Given the description of an element on the screen output the (x, y) to click on. 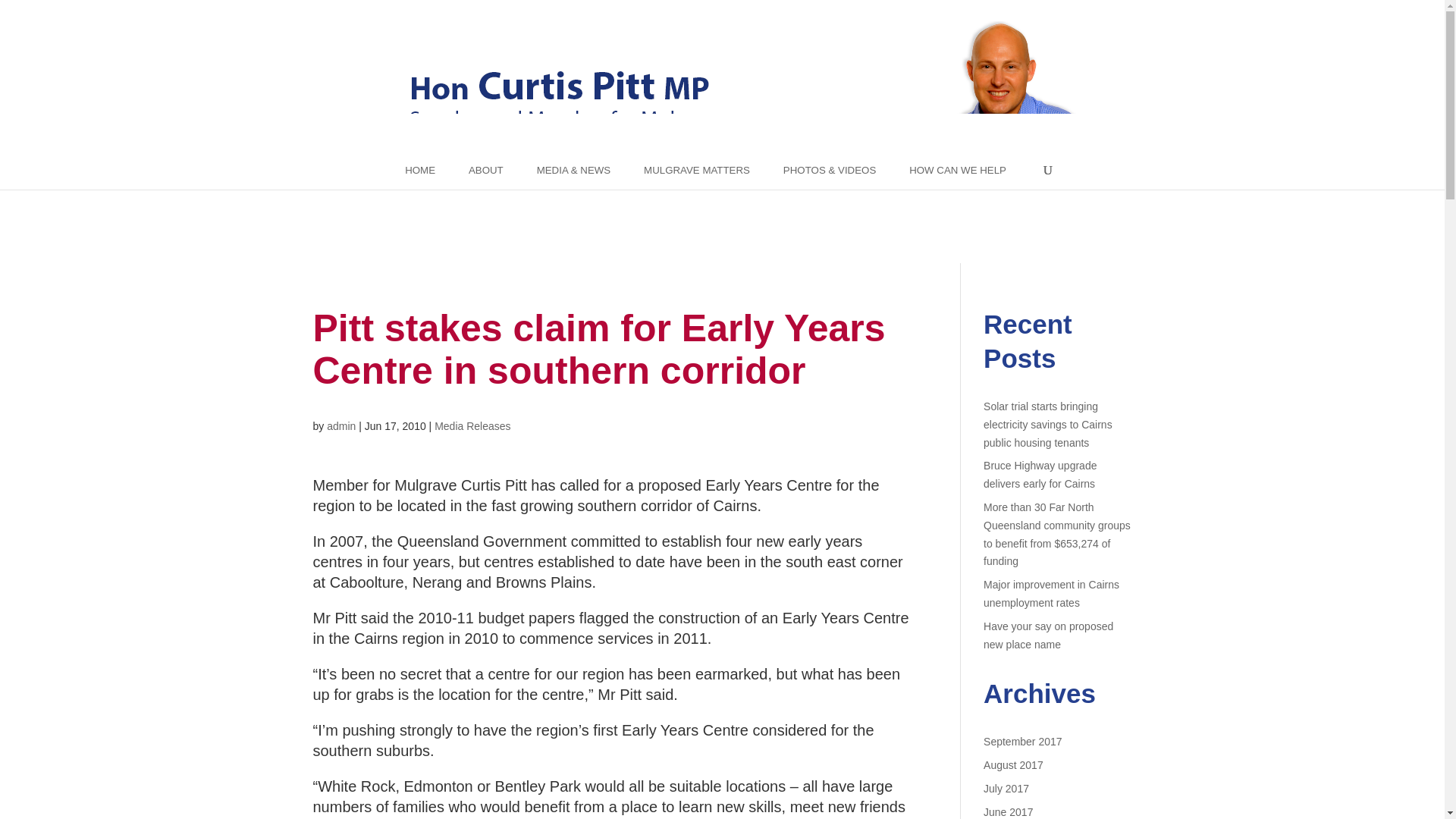
ABOUT (485, 170)
September 2017 (1023, 741)
Have your say on proposed new place name (1048, 634)
Bruce Highway upgrade delivers early for Cairns (1040, 474)
admin (340, 426)
HOW CAN WE HELP (957, 170)
June 2017 (1008, 811)
MULGRAVE MATTERS (696, 170)
August 2017 (1013, 765)
